Given the description of an element on the screen output the (x, y) to click on. 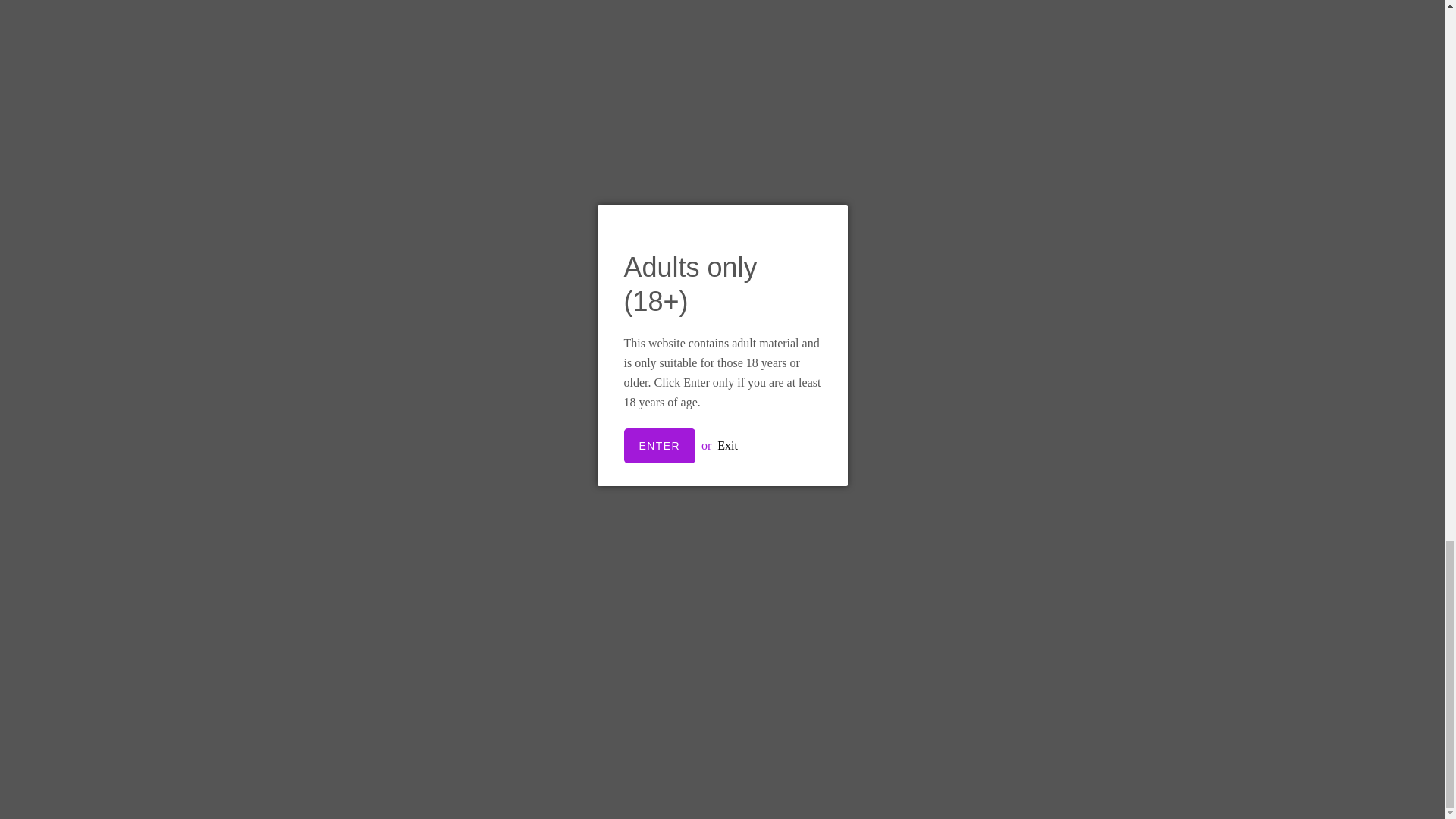
Facebook (905, 522)
Instagram (962, 522)
Twitter (933, 522)
Celtic (599, 339)
About us (353, 654)
Elf Bar (844, 339)
Hayati (1088, 339)
Decadent (354, 339)
